Given the description of an element on the screen output the (x, y) to click on. 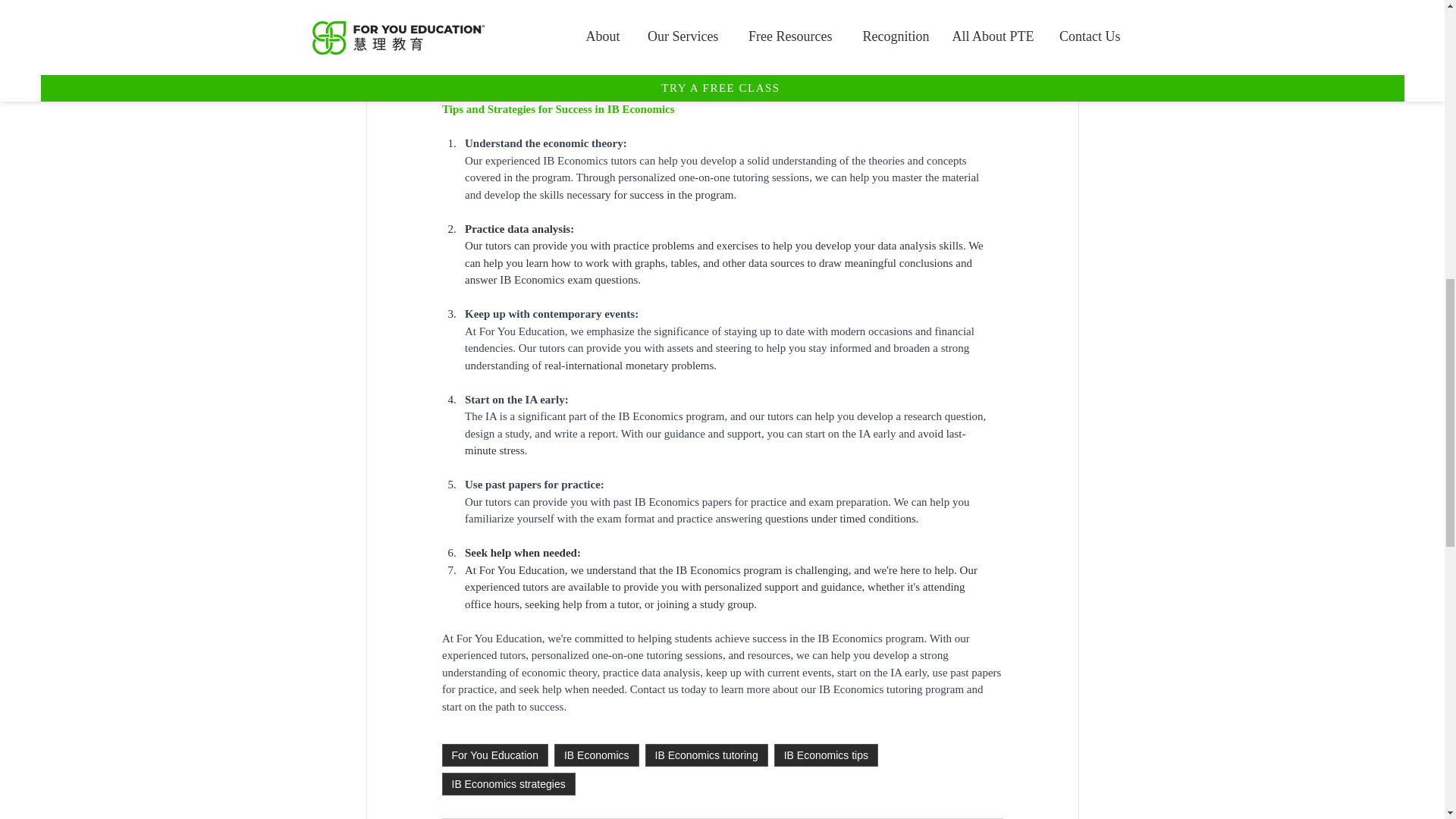
IB Economics (596, 754)
IB Economics strategies (508, 784)
IB Economics tips (825, 754)
IB Economics tutoring (706, 754)
For You Education (494, 754)
